Given the description of an element on the screen output the (x, y) to click on. 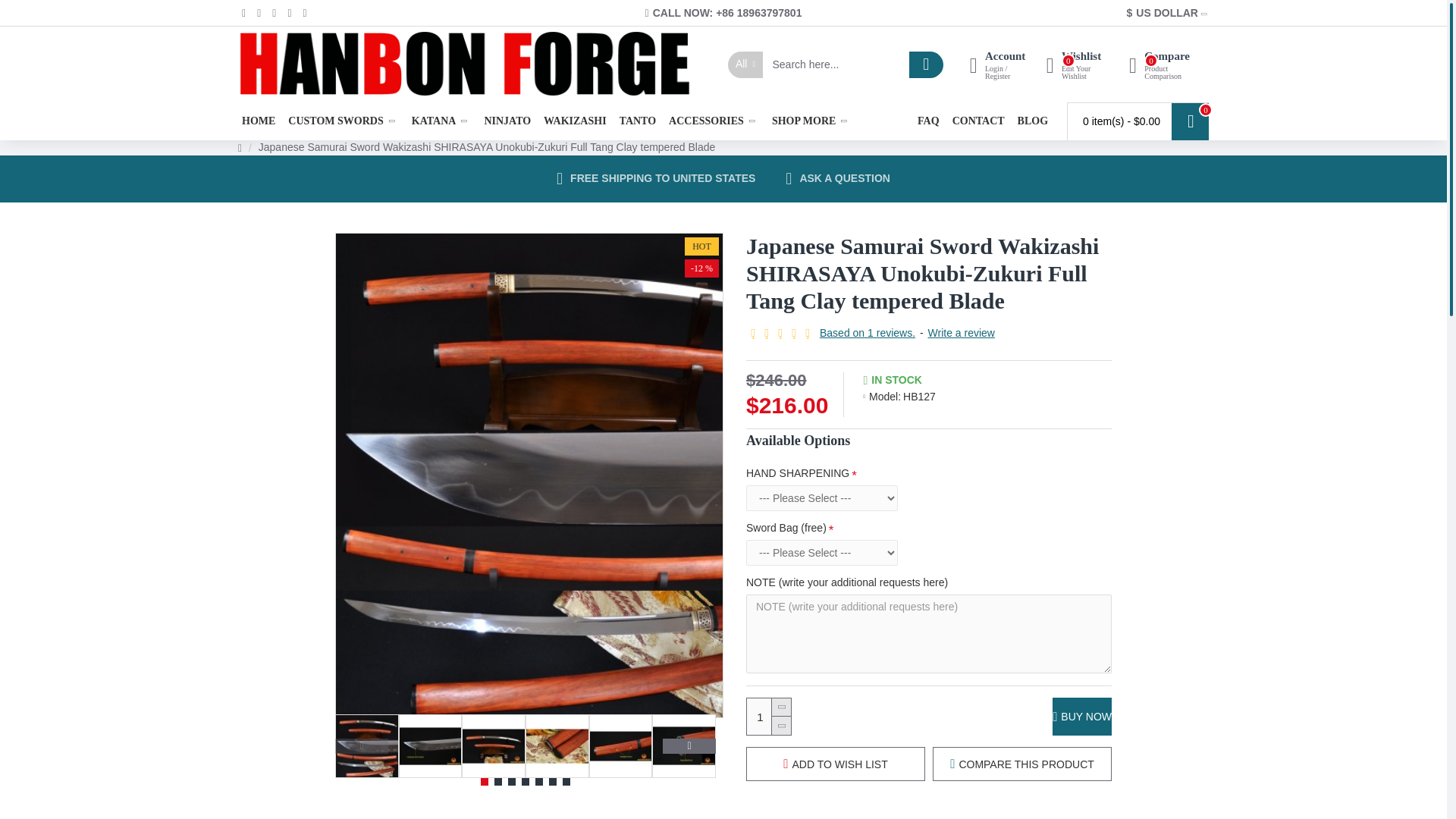
CUSTOM SWORDS (342, 120)
HanBon Forge (464, 64)
1 (768, 716)
KATANA (1080, 64)
HOME (441, 120)
